Given the description of an element on the screen output the (x, y) to click on. 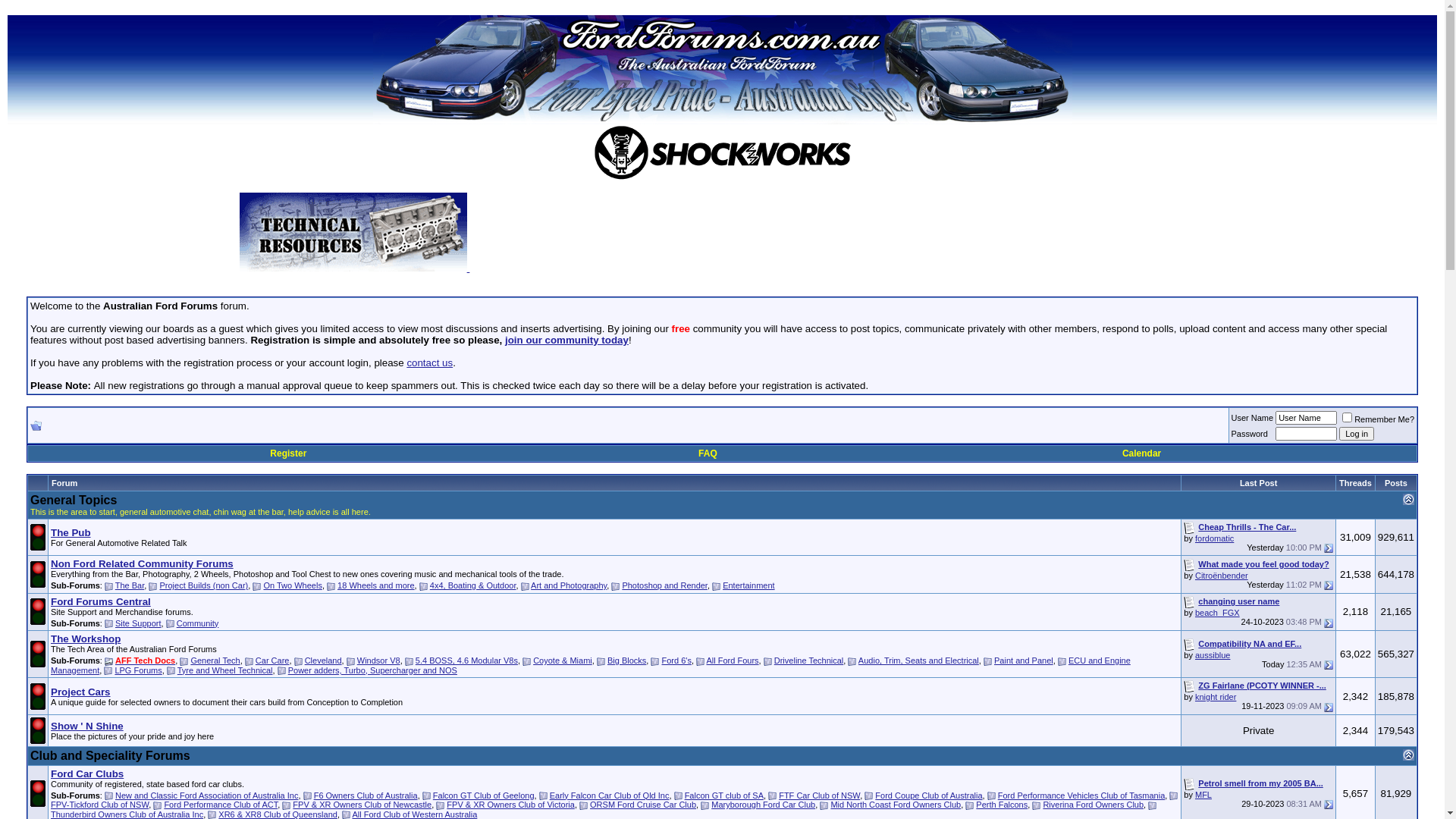
Go to last post Element type: hover (1328, 804)
FPV-Tickford Club of NSW Element type: text (99, 804)
FPV & XR Owners Club of Newcastle Element type: text (361, 804)
Register Element type: text (287, 453)
Entertainment Element type: text (748, 584)
Go to last post Element type: hover (1328, 622)
Ford Forums Central Element type: text (100, 601)
General Tech Element type: text (214, 660)
What made you feel good today? Element type: text (1263, 563)
On Two Wheels Element type: text (292, 584)
Petrol smell from my 2005 BA... Element type: text (1260, 782)
Big Blocks Element type: text (626, 660)
The Bar Element type: text (129, 584)
FAQ Element type: text (707, 453)
Tyre and Wheel Technical Element type: text (225, 669)
Go to last post Element type: hover (1328, 664)
ECU and Engine Management Element type: text (590, 664)
Cleveland Element type: text (323, 660)
ORSM Ford Cruise Car Club Element type: text (642, 804)
Riverina Ford Owners Club Element type: text (1092, 804)
Calendar Element type: text (1141, 453)
AFF Tech Docs Element type: text (145, 660)
Cheap Thrills - The Car... Element type: text (1246, 526)
Go to last post Element type: hover (1328, 707)
Club and Speciality Forums Element type: text (110, 755)
Shockworks Element type: hover (722, 152)
Power adders, Turbo, Supercharger and NOS Element type: text (372, 669)
New and Classic Ford Association of Australia Inc Element type: text (206, 795)
Windsor V8 Element type: text (378, 660)
5.4 BOSS, 4.6 Modular V8s Element type: text (466, 660)
Photoshop and Render Element type: text (664, 584)
Coyote & Miami Element type: text (562, 660)
Ford Performance Club of ACT Element type: text (220, 804)
contact us Element type: text (429, 362)
FPV & XR Owners Club of Victoria Element type: text (510, 804)
join our community today Element type: text (566, 339)
Project Cars Element type: text (80, 691)
Falcon GT club of SA Element type: text (723, 795)
Compatibility NA and EF... Element type: text (1249, 643)
Driveline Technical Element type: text (809, 660)
General Topics Element type: text (73, 499)
The Pub Element type: text (70, 532)
Show ' N Shine Element type: text (86, 725)
Go to last post Element type: hover (1328, 584)
F6 Owners Club of Australia Element type: text (365, 795)
The Workshop Element type: text (85, 638)
aussiblue Element type: text (1212, 654)
Mid North Coast Ford Owners Club Element type: text (895, 804)
18 Wheels and more Element type: text (375, 584)
Maryborough Ford Car Club Element type: text (763, 804)
Perth Falcons Element type: text (1001, 804)
4x4, Boating & Outdoor Element type: text (472, 584)
Ford Performance Vehicles Club of Tasmania Element type: text (1081, 795)
MFL Element type: text (1203, 794)
Car Care Element type: text (272, 660)
Paint and Panel Element type: text (1023, 660)
Ford Car Clubs Element type: text (86, 773)
Non Ford Related Community Forums Element type: text (141, 563)
ZG Fairlane (PCOTY WINNER -... Element type: text (1261, 685)
Falcon GT Club of Geelong Element type: text (483, 795)
Advertisement Element type: hover (836, 237)
Community Element type: text (197, 622)
Project Builds (non Car) Element type: text (203, 584)
Site Support Element type: text (138, 622)
Ford Coupe Club of Australia Element type: text (928, 795)
knight rider Element type: text (1215, 696)
LPG Forums Element type: text (137, 669)
Audio, Trim, Seats and Electrical Element type: text (918, 660)
Log in Element type: text (1356, 433)
Art and Photography Element type: text (568, 584)
Early Falcon Car Club of Qld Inc Element type: text (609, 795)
Go to last post Element type: hover (1328, 547)
beach_FGX Element type: text (1217, 612)
fordomatic Element type: text (1214, 537)
Ford 6's Element type: text (676, 660)
All Ford Fours Element type: text (732, 660)
changing user name Element type: text (1238, 600)
FTF Car Club of NSW Element type: text (818, 795)
